Given the description of an element on the screen output the (x, y) to click on. 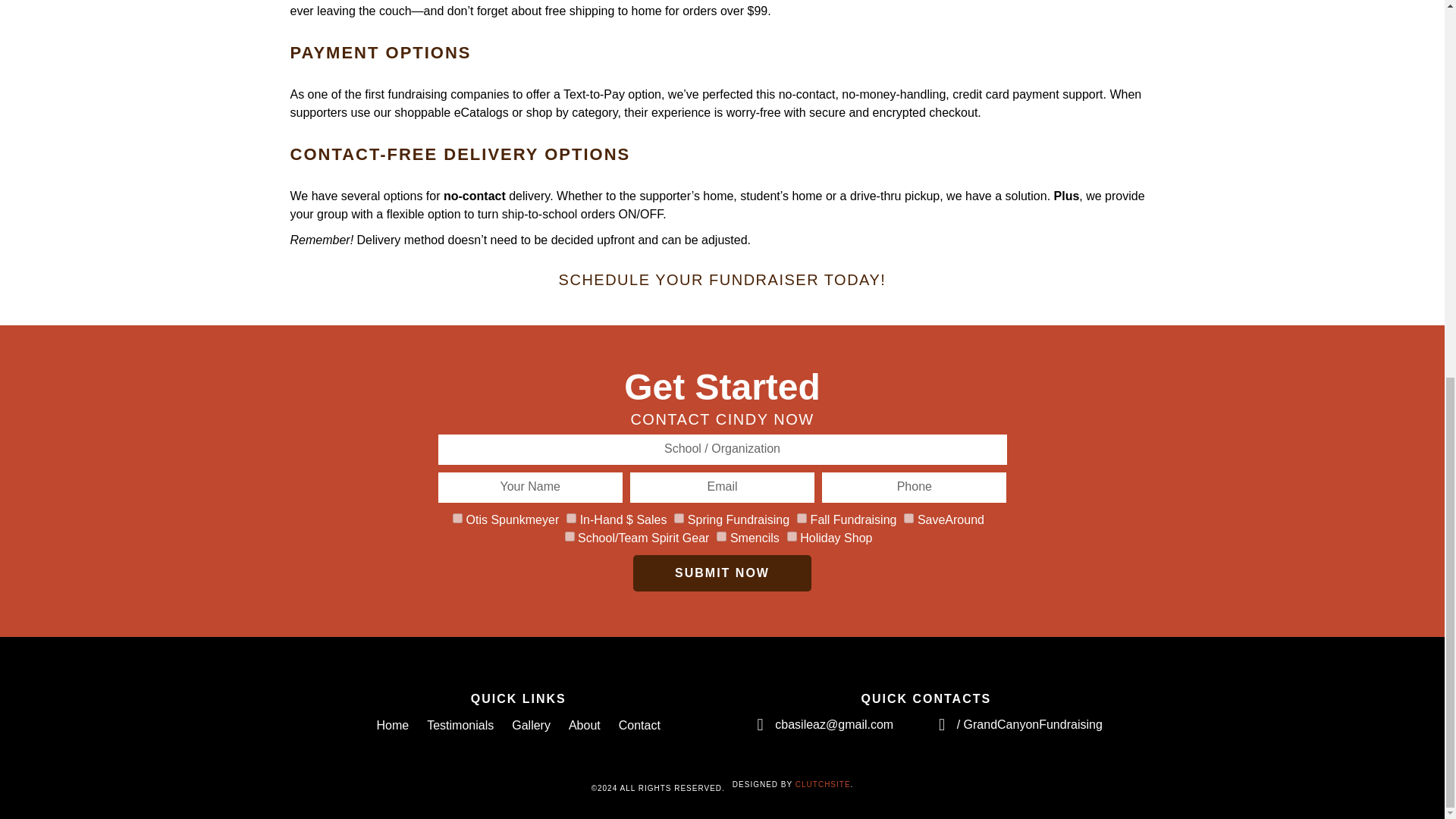
SaveAround (909, 518)
Holiday Shop (791, 536)
About (584, 724)
Testimonials (459, 724)
Smencils (721, 536)
Gallery (530, 724)
Otis Spunkmeyer (457, 518)
Home (393, 724)
Fall Fundraising (801, 518)
SUBMIT NOW (721, 573)
